Given the description of an element on the screen output the (x, y) to click on. 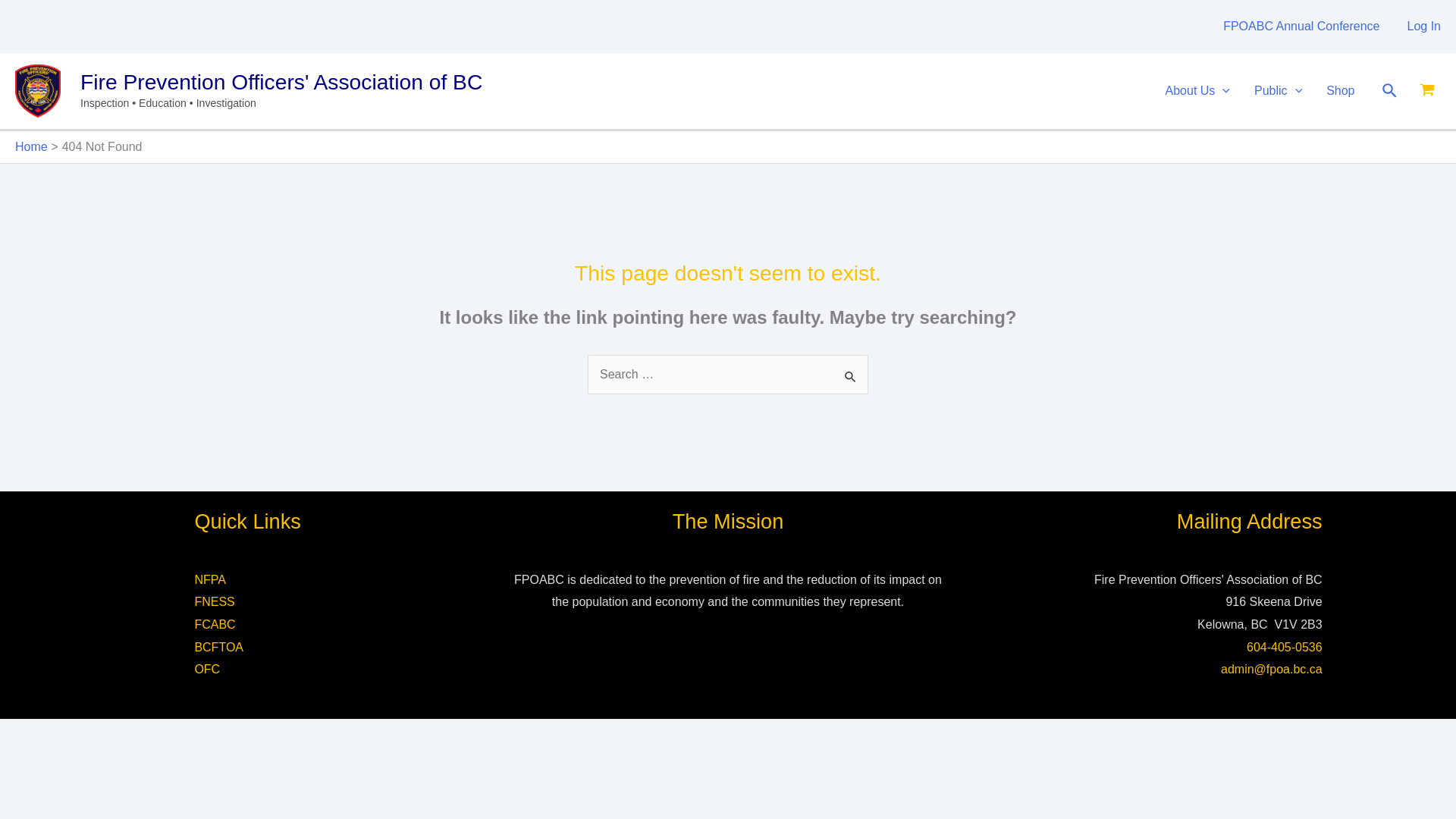
Log In (1424, 26)
Fire Prevention Officers' Association of BC (280, 81)
About Us (1197, 90)
FPOABC Annual Conference (1301, 26)
Shop (1340, 90)
Public (1277, 90)
